Given the description of an element on the screen output the (x, y) to click on. 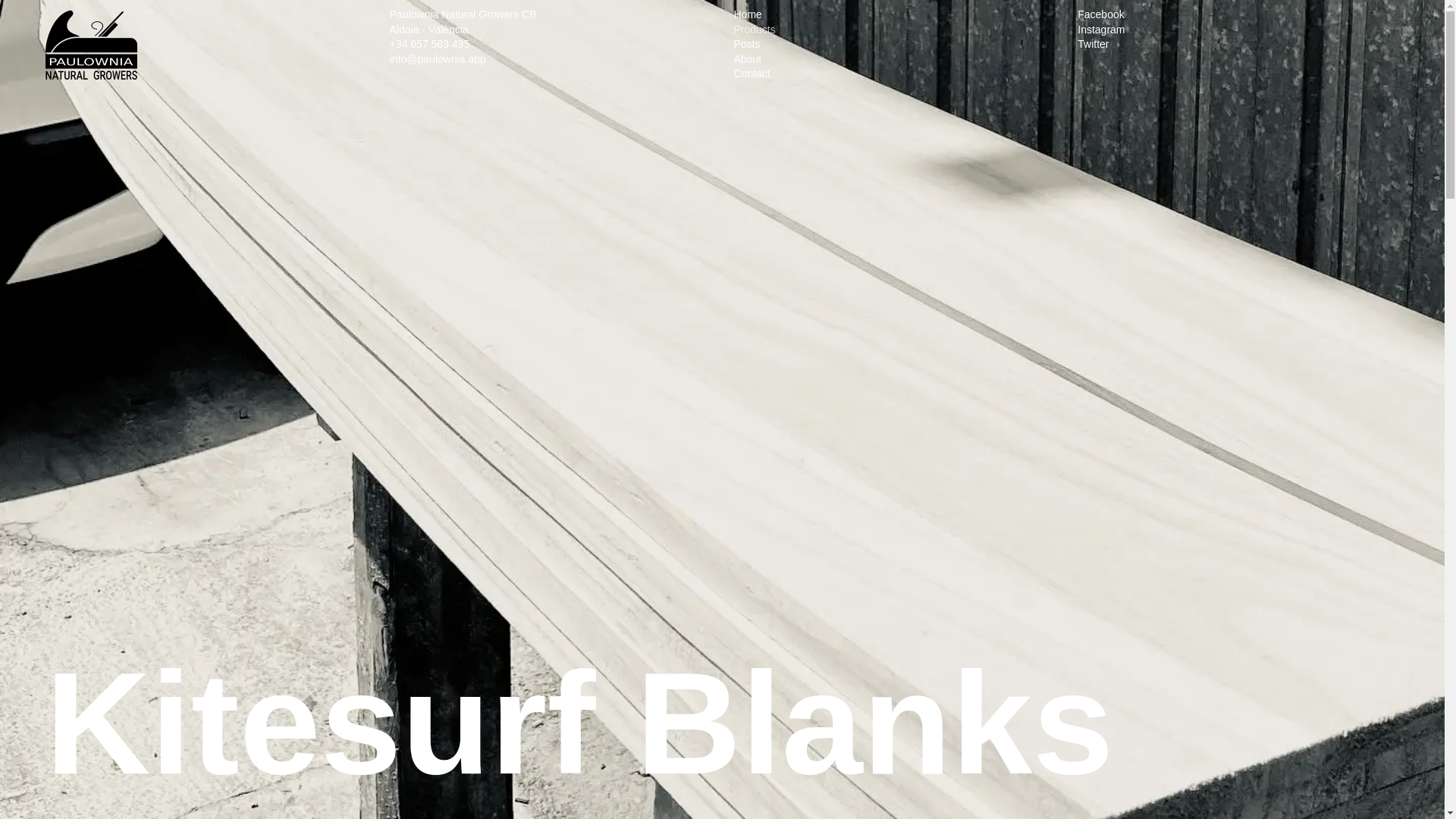
Twitter (1092, 43)
About (747, 59)
Products (754, 29)
Contact (751, 73)
Home (747, 14)
Posts (746, 43)
Instagram (1100, 29)
Facebook (1100, 14)
